Given the description of an element on the screen output the (x, y) to click on. 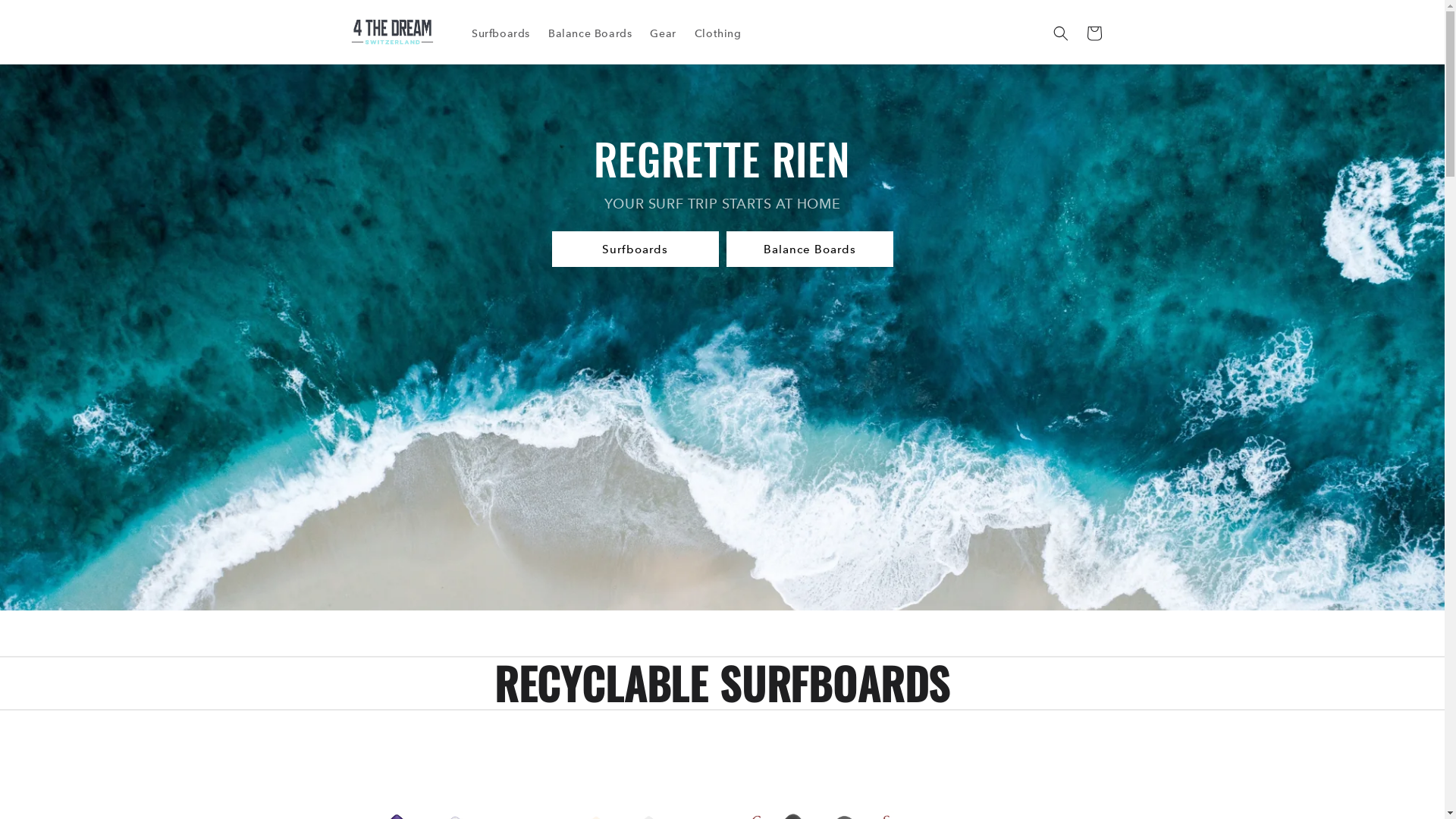
Balance Boards Element type: text (809, 248)
Gear Element type: text (662, 33)
Surfboards Element type: text (500, 33)
Cart Element type: text (1093, 33)
Balance Boards Element type: text (589, 33)
Surfboards Element type: text (635, 248)
Clothing Element type: text (717, 33)
